Given the description of an element on the screen output the (x, y) to click on. 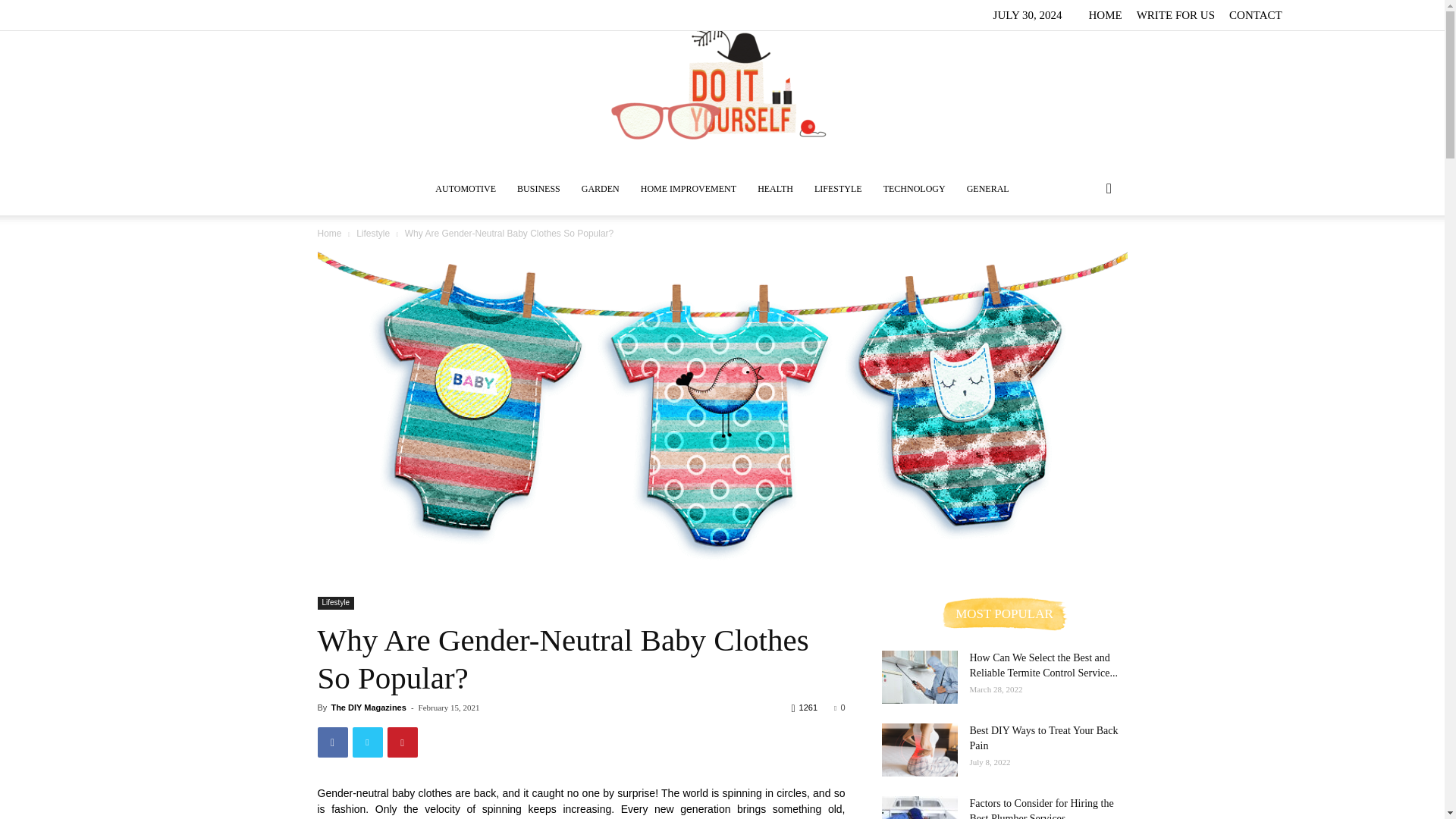
AUTOMOTIVE (465, 188)
TECHNOLOGY (914, 188)
BUSINESS (538, 188)
View all posts in Lifestyle (373, 233)
HEALTH (774, 188)
LIFESTYLE (837, 188)
HOME (1104, 15)
GARDEN (600, 188)
HOME IMPROVEMENT (688, 188)
CONTACT (1255, 15)
WRITE FOR US (1175, 15)
